Given the description of an element on the screen output the (x, y) to click on. 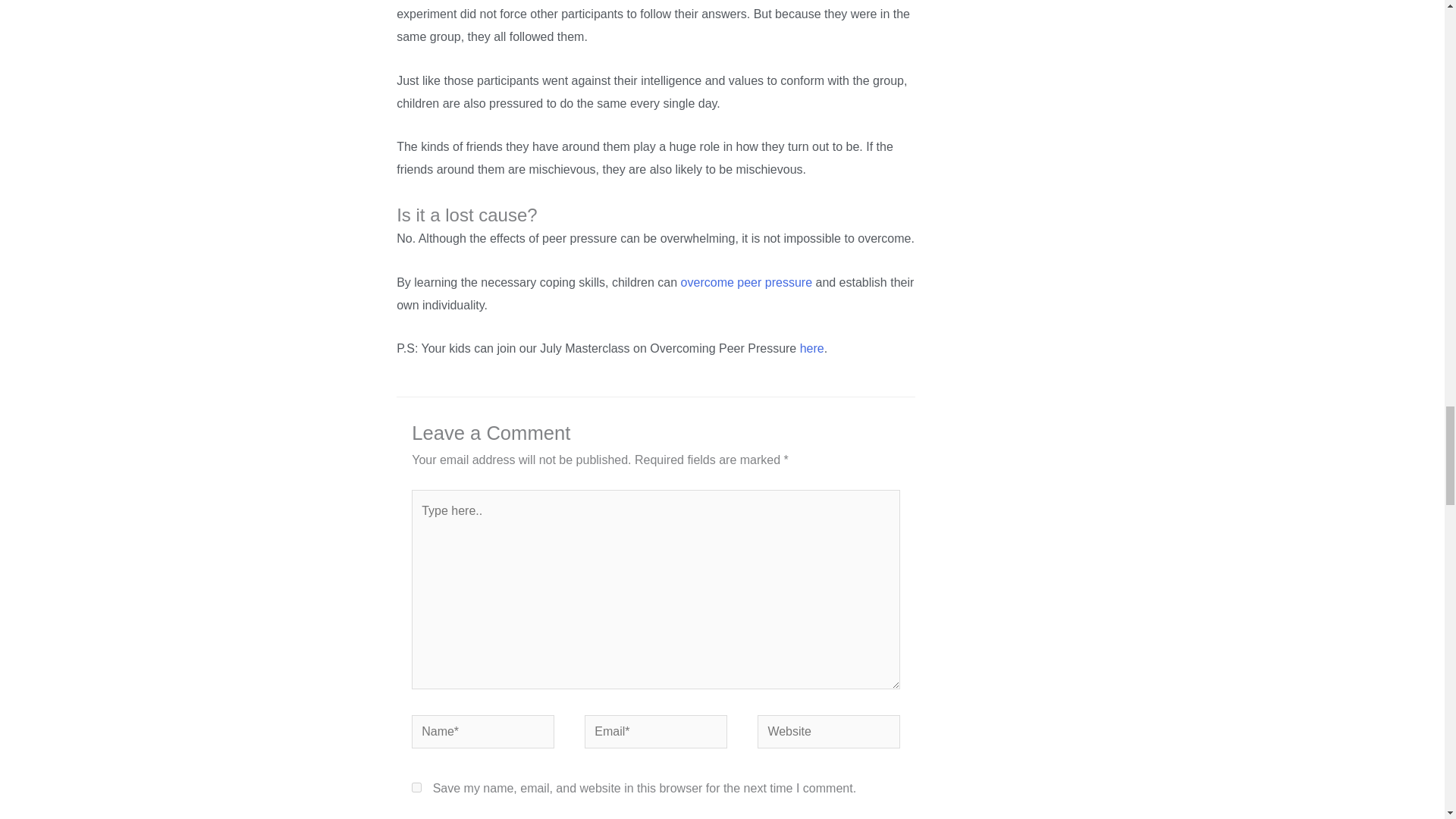
overcome peer pressure (746, 282)
here (811, 348)
yes (417, 787)
